Given the description of an element on the screen output the (x, y) to click on. 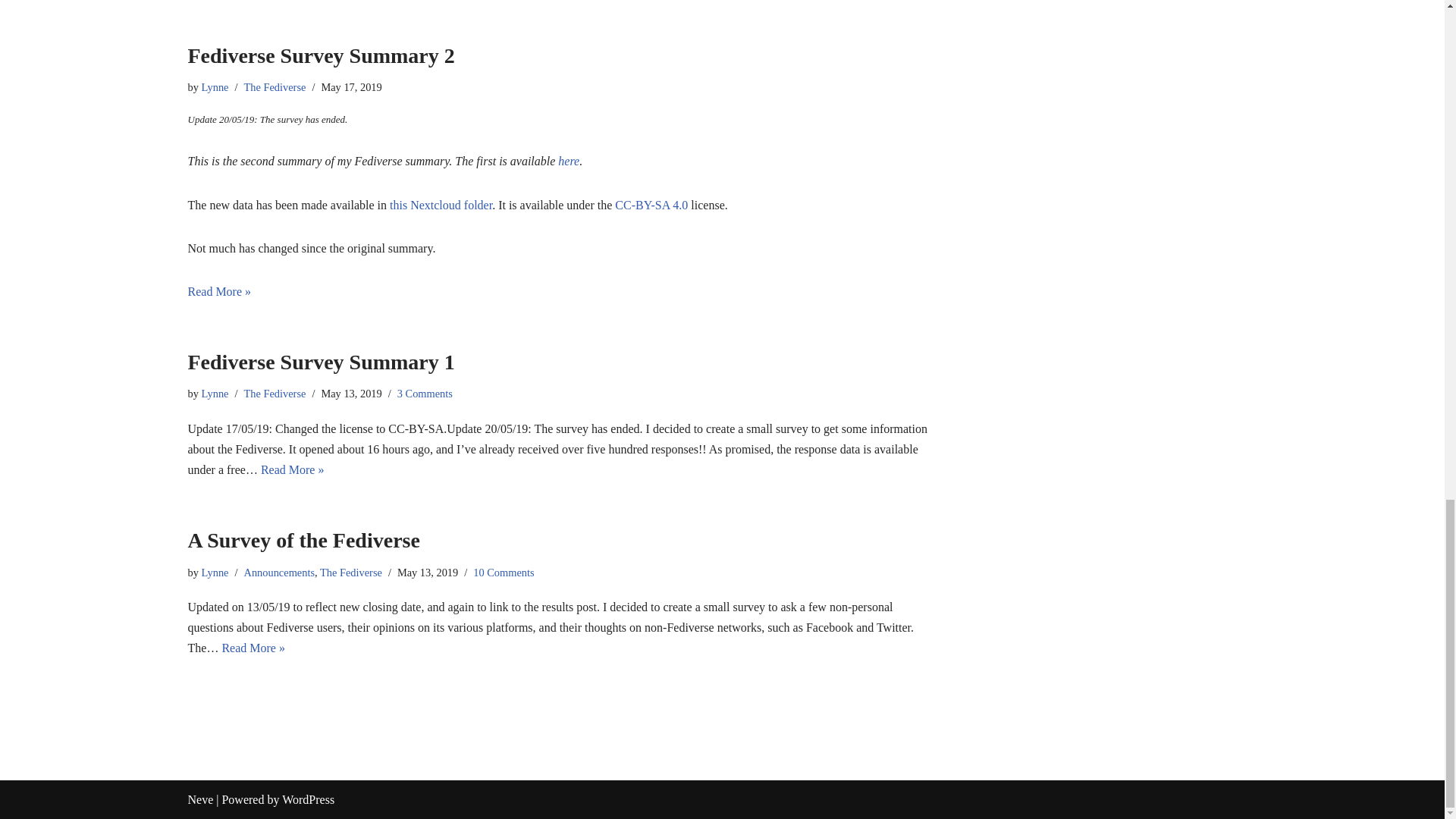
Posts by Lynne (215, 571)
this Nextcloud folder (441, 205)
Posts by Lynne (215, 87)
Posts by Lynne (215, 393)
The Fediverse (274, 87)
Fediverse Survey Summary 2 (320, 55)
here (568, 160)
Lynne (215, 87)
